Given the description of an element on the screen output the (x, y) to click on. 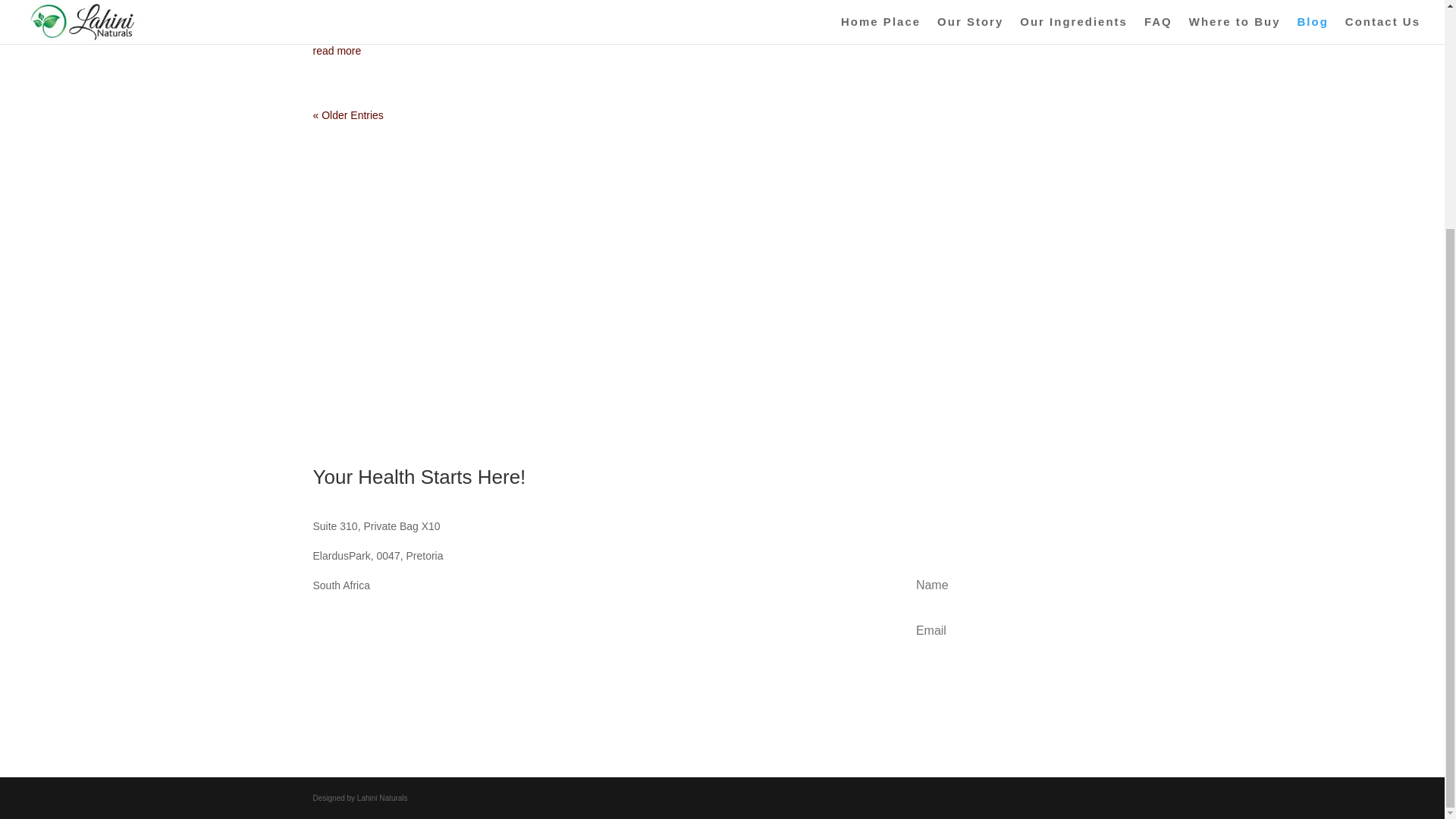
Subscribe (1009, 677)
read more (722, 50)
